Given the description of an element on the screen output the (x, y) to click on. 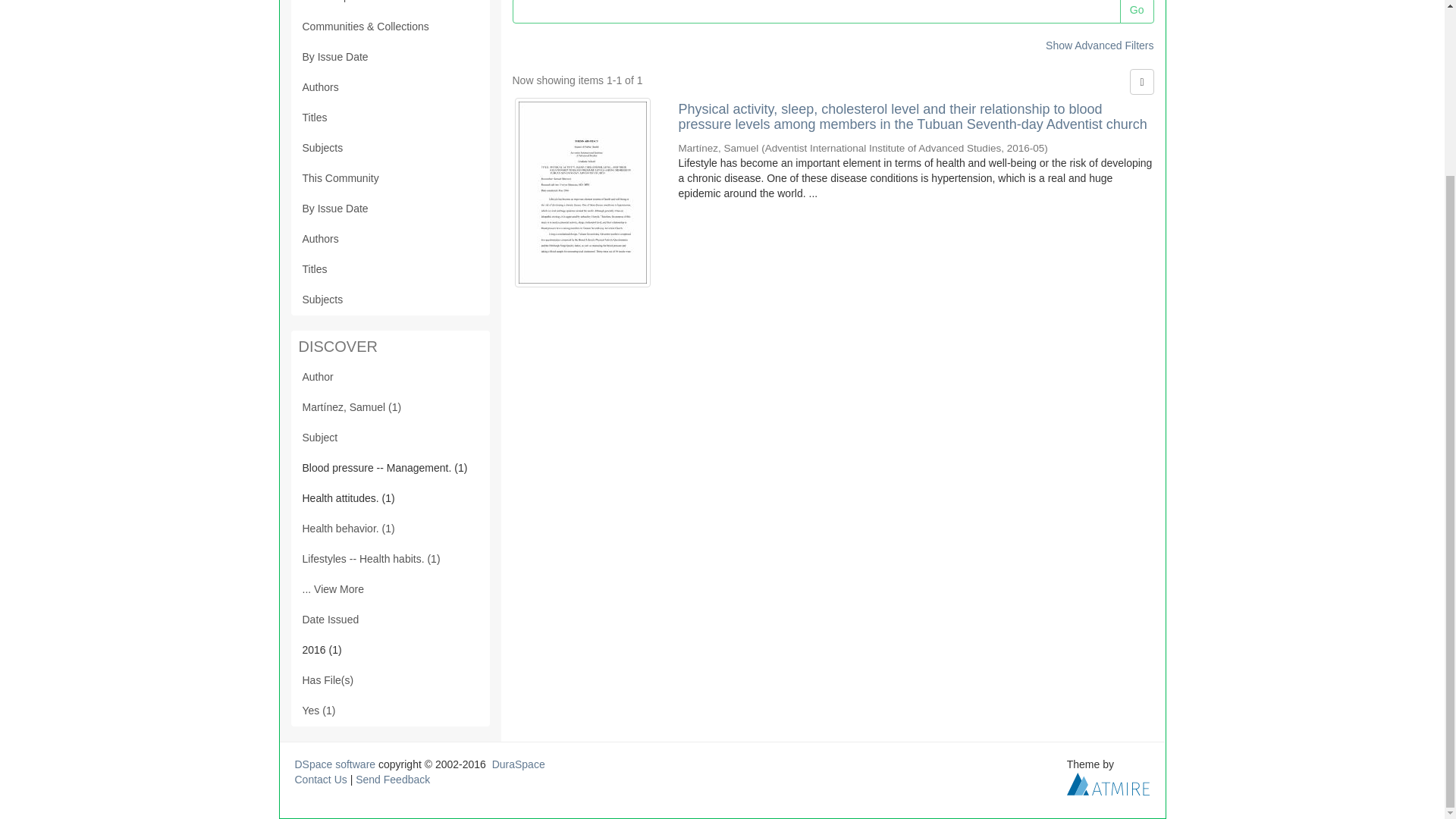
All of DSpace (390, 6)
By Issue Date (390, 57)
Go (1136, 11)
Atmire NV (1108, 782)
Show Advanced Filters (1099, 45)
